Given the description of an element on the screen output the (x, y) to click on. 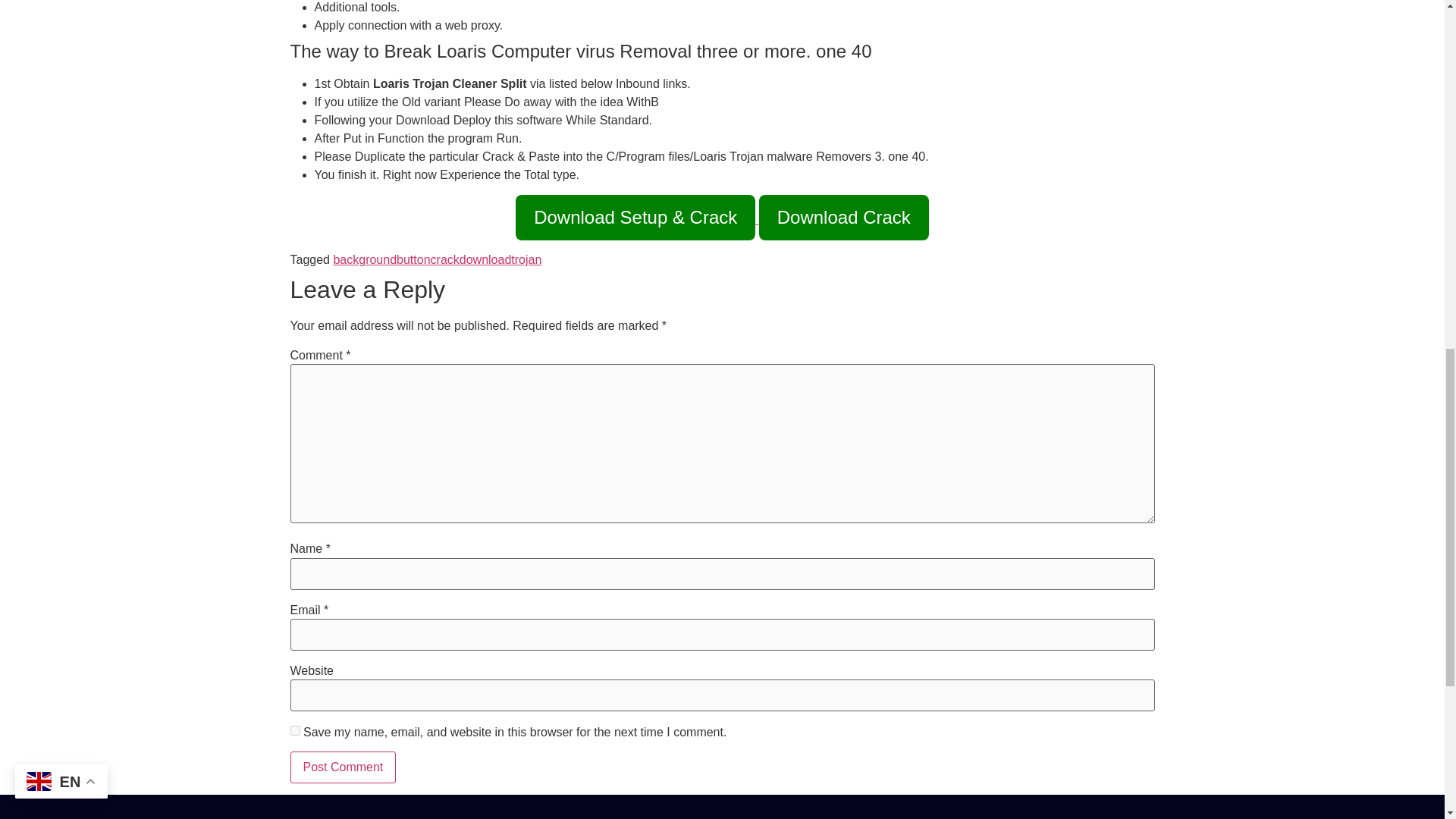
trojan (526, 259)
background (364, 259)
download (486, 259)
crack (445, 259)
Post Comment (342, 766)
yes (294, 730)
Download Crack (843, 217)
Post Comment (342, 766)
button (412, 259)
